Given the description of an element on the screen output the (x, y) to click on. 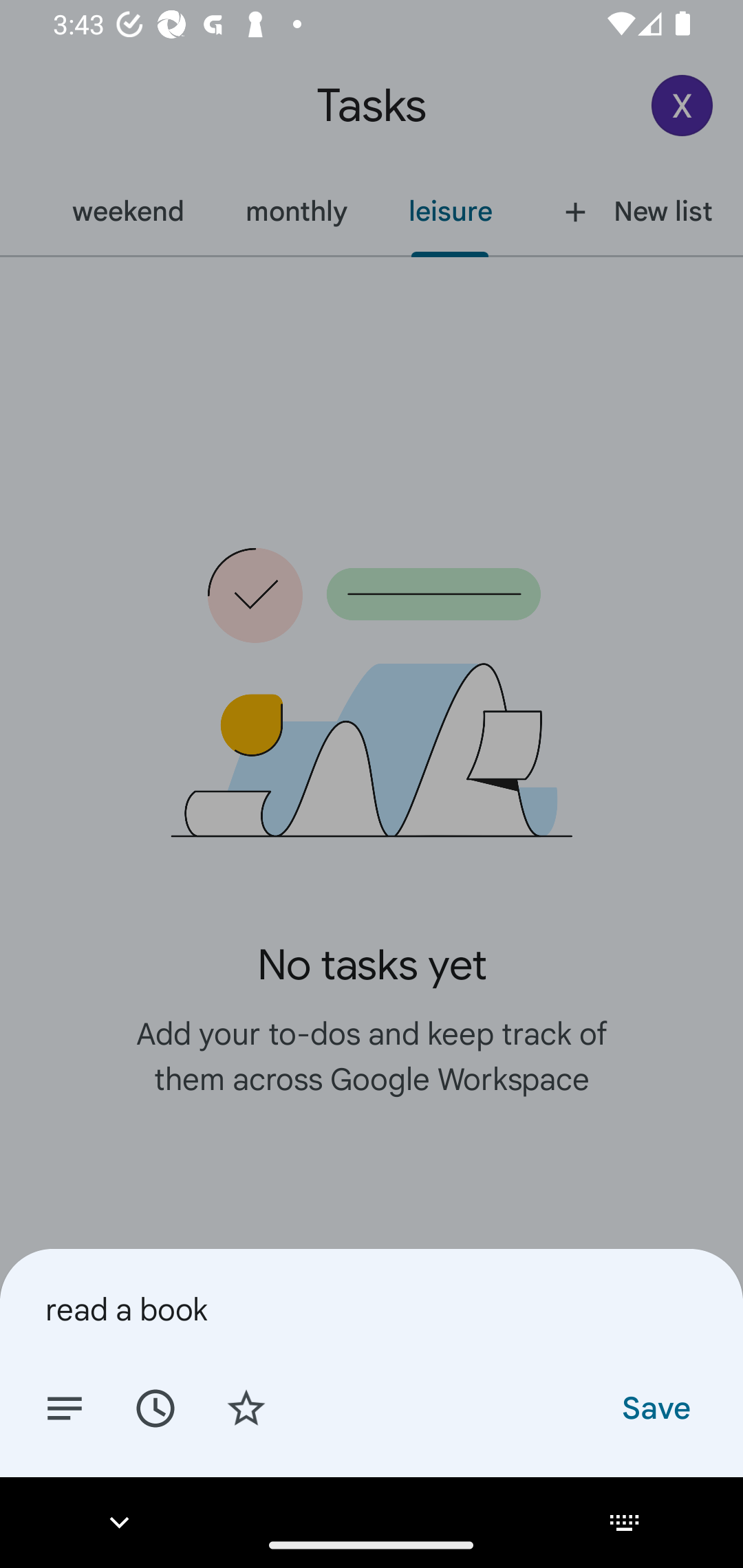
read a book (371, 1308)
Save (655, 1407)
Add details (64, 1407)
Set date/time (154, 1407)
Add star (245, 1407)
